Given the description of an element on the screen output the (x, y) to click on. 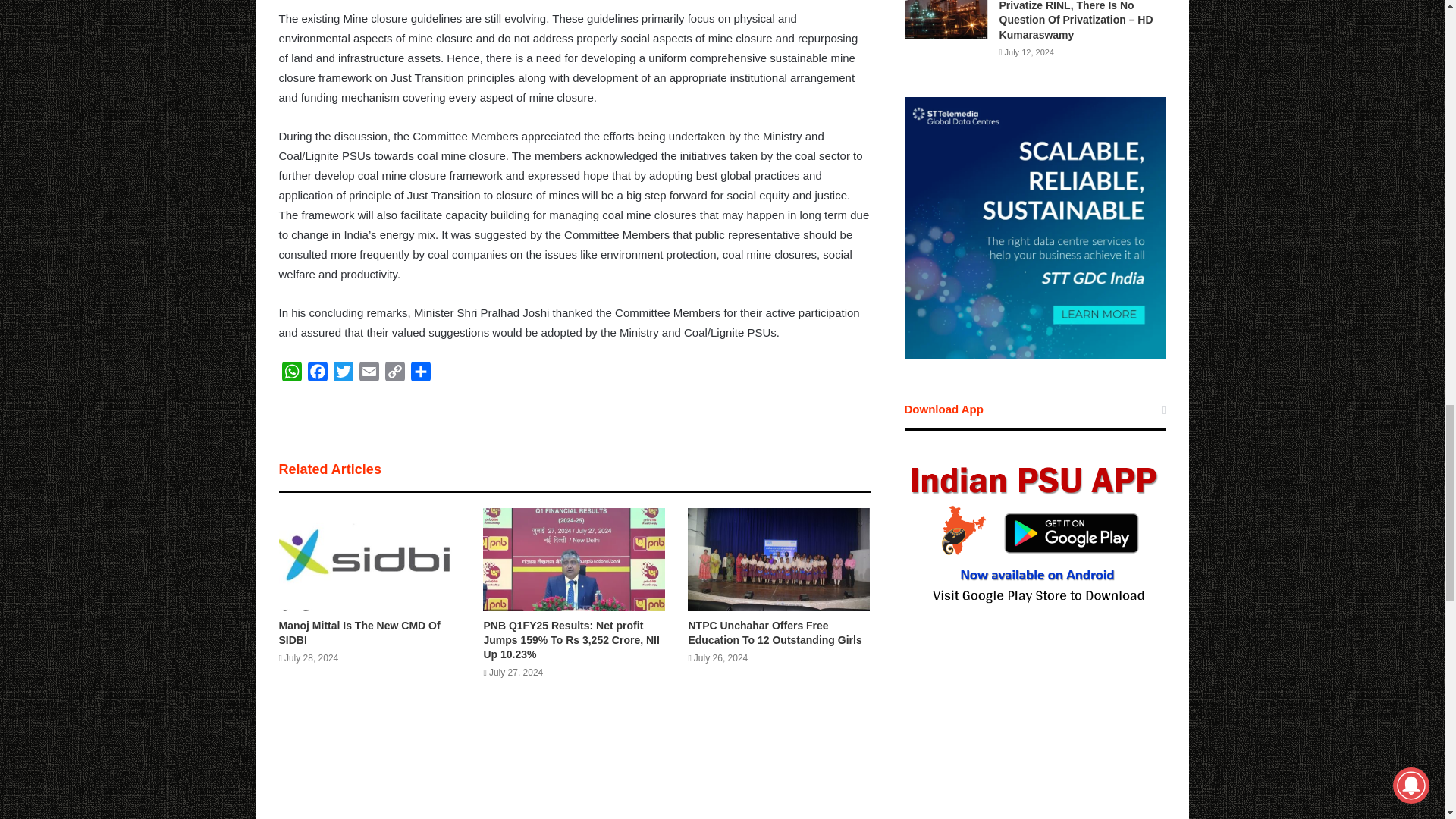
Twitter (343, 374)
YouTube video player (1035, 742)
Facebook (317, 374)
NTPC Unchahar Offers Free Education To 12 Outstanding Girls (774, 632)
Email (368, 374)
Email (368, 374)
Copy Link (394, 374)
Manoj Mittal Is The New CMD Of SIDBI (360, 632)
Twitter (343, 374)
WhatsApp (291, 374)
Copy Link (394, 374)
Facebook (317, 374)
WhatsApp (291, 374)
